Given the description of an element on the screen output the (x, y) to click on. 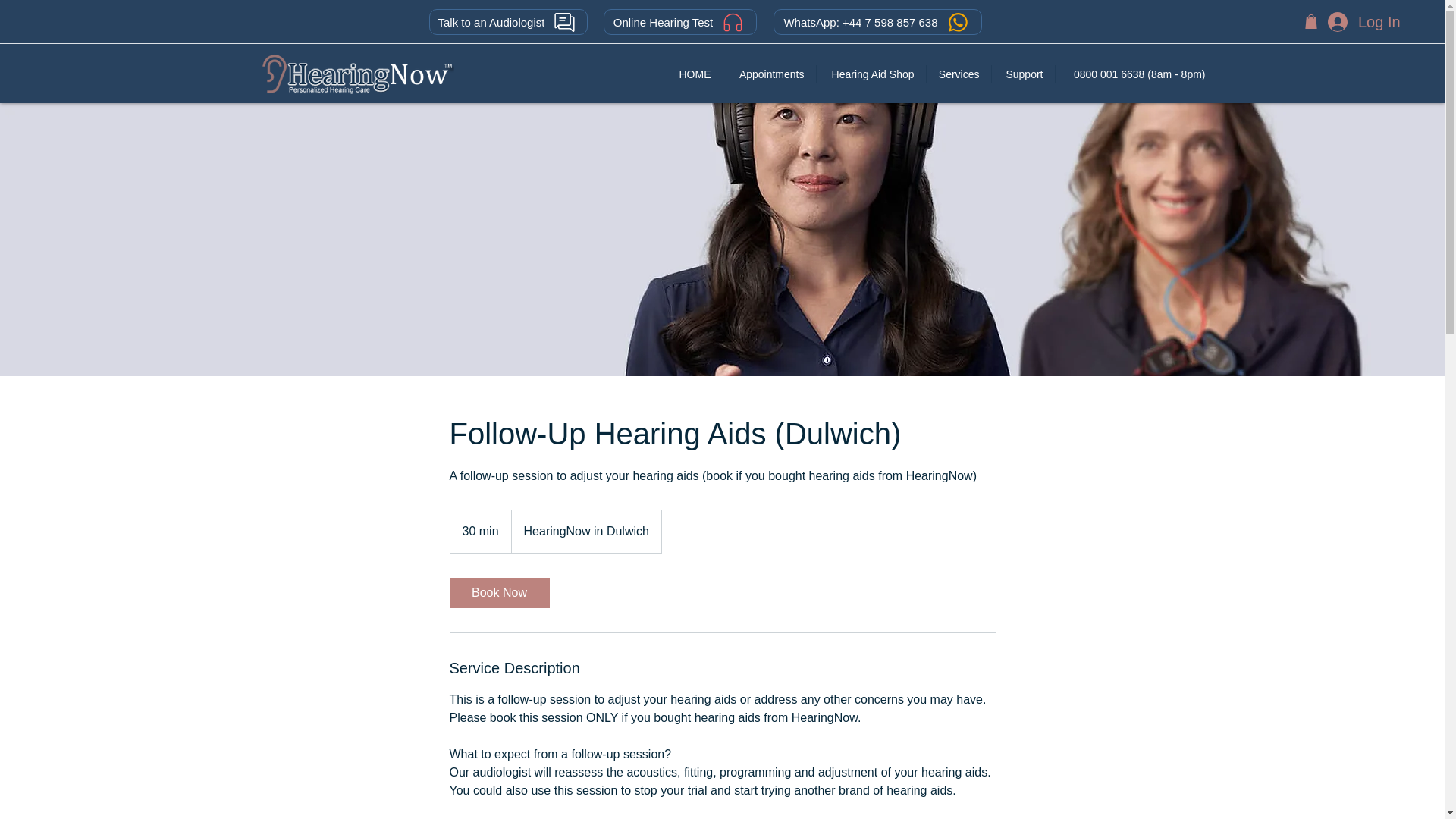
HOME (694, 74)
Log In (1362, 21)
Appointments (769, 74)
Services (958, 74)
Talk to an Audiologist (508, 22)
Online Hearing Test (680, 22)
Hearing Aid Shop (869, 74)
